Given the description of an element on the screen output the (x, y) to click on. 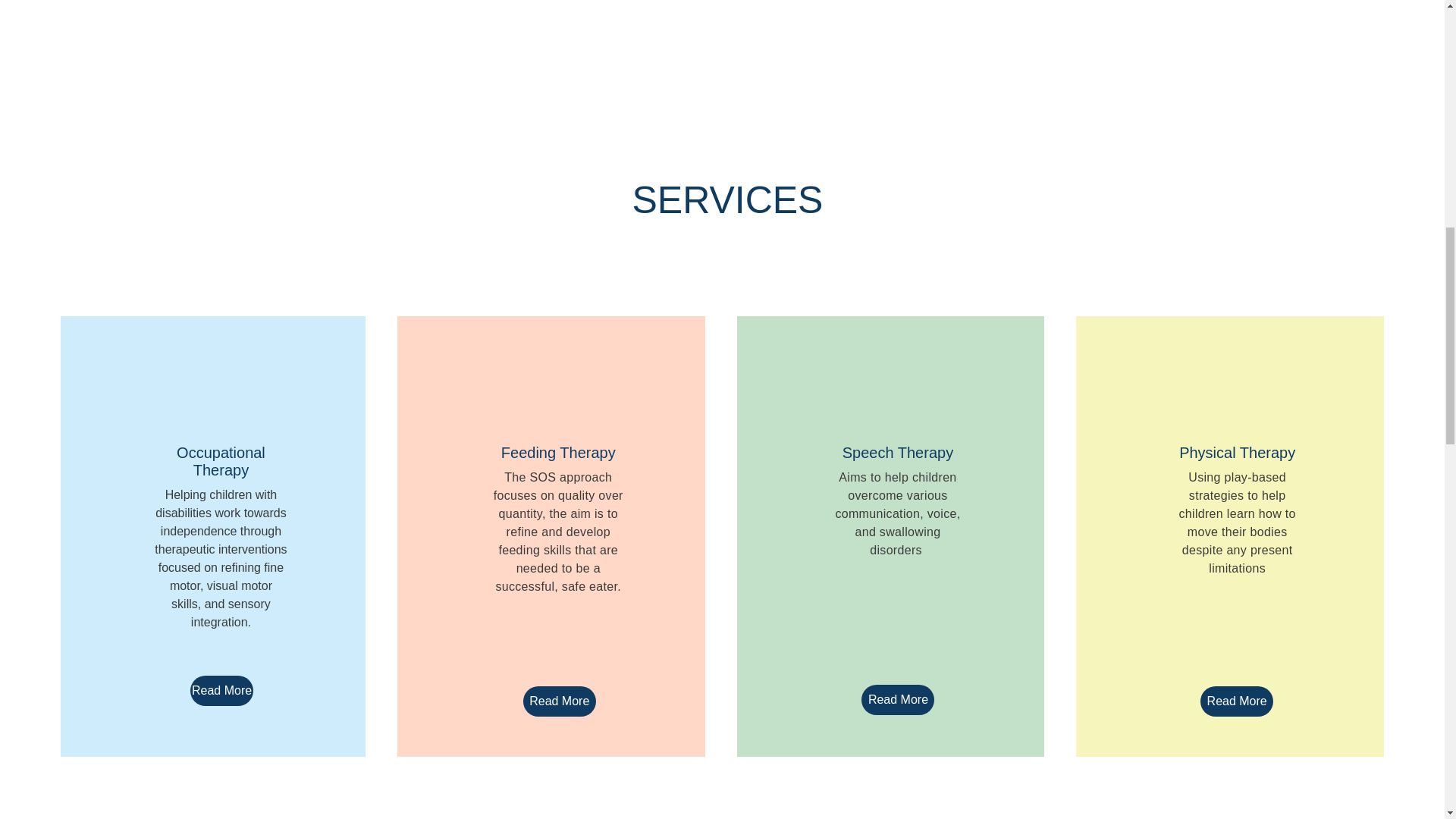
Read More (1235, 701)
Read More (221, 690)
Read More (558, 701)
Read More (897, 699)
